Given the description of an element on the screen output the (x, y) to click on. 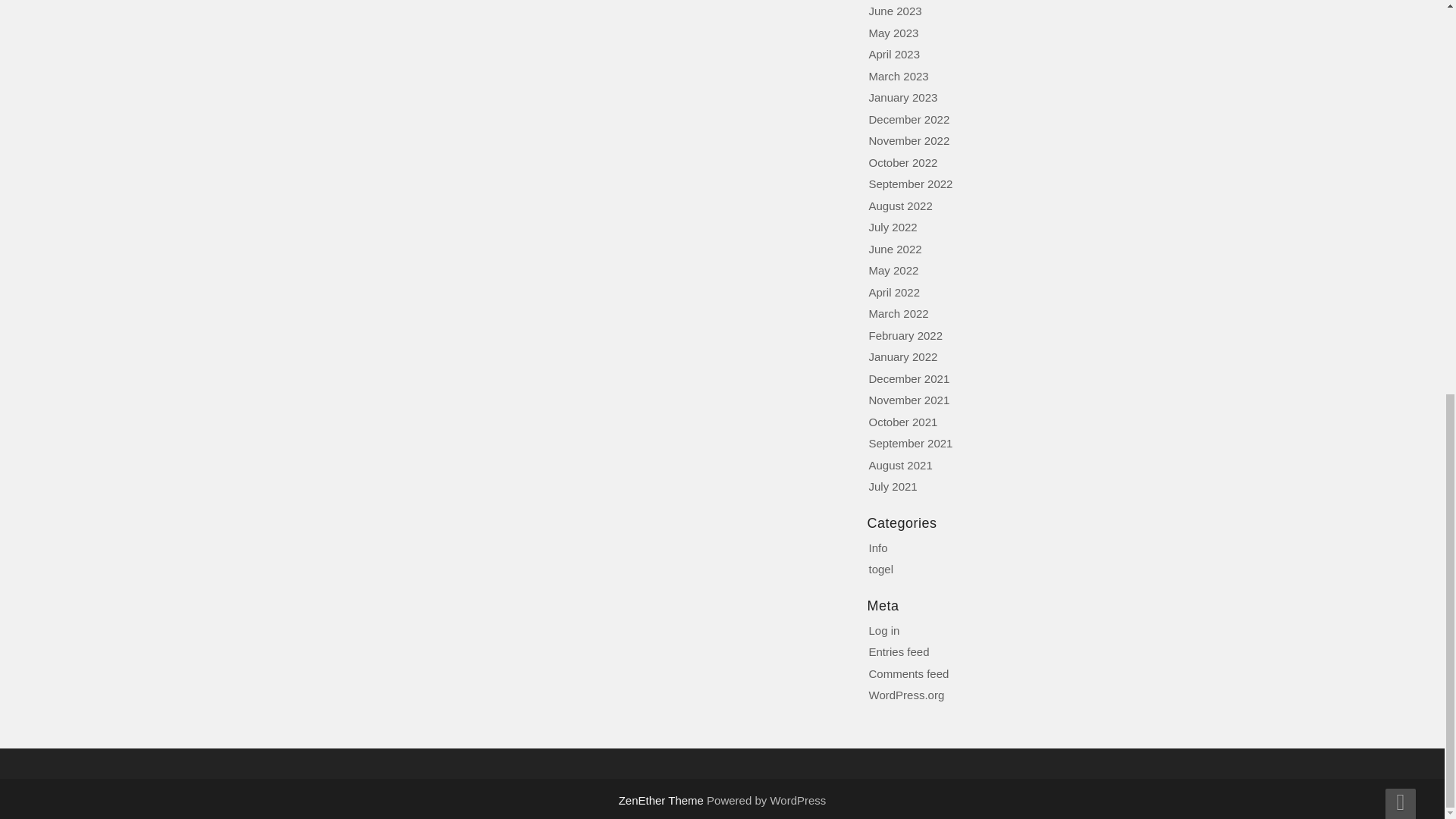
January 2023 (903, 97)
June 2022 (895, 248)
ZenEther Theme (662, 799)
November 2022 (909, 140)
June 2023 (895, 10)
March 2023 (898, 75)
October 2022 (903, 162)
August 2022 (901, 205)
December 2022 (909, 118)
April 2023 (894, 53)
